Given the description of an element on the screen output the (x, y) to click on. 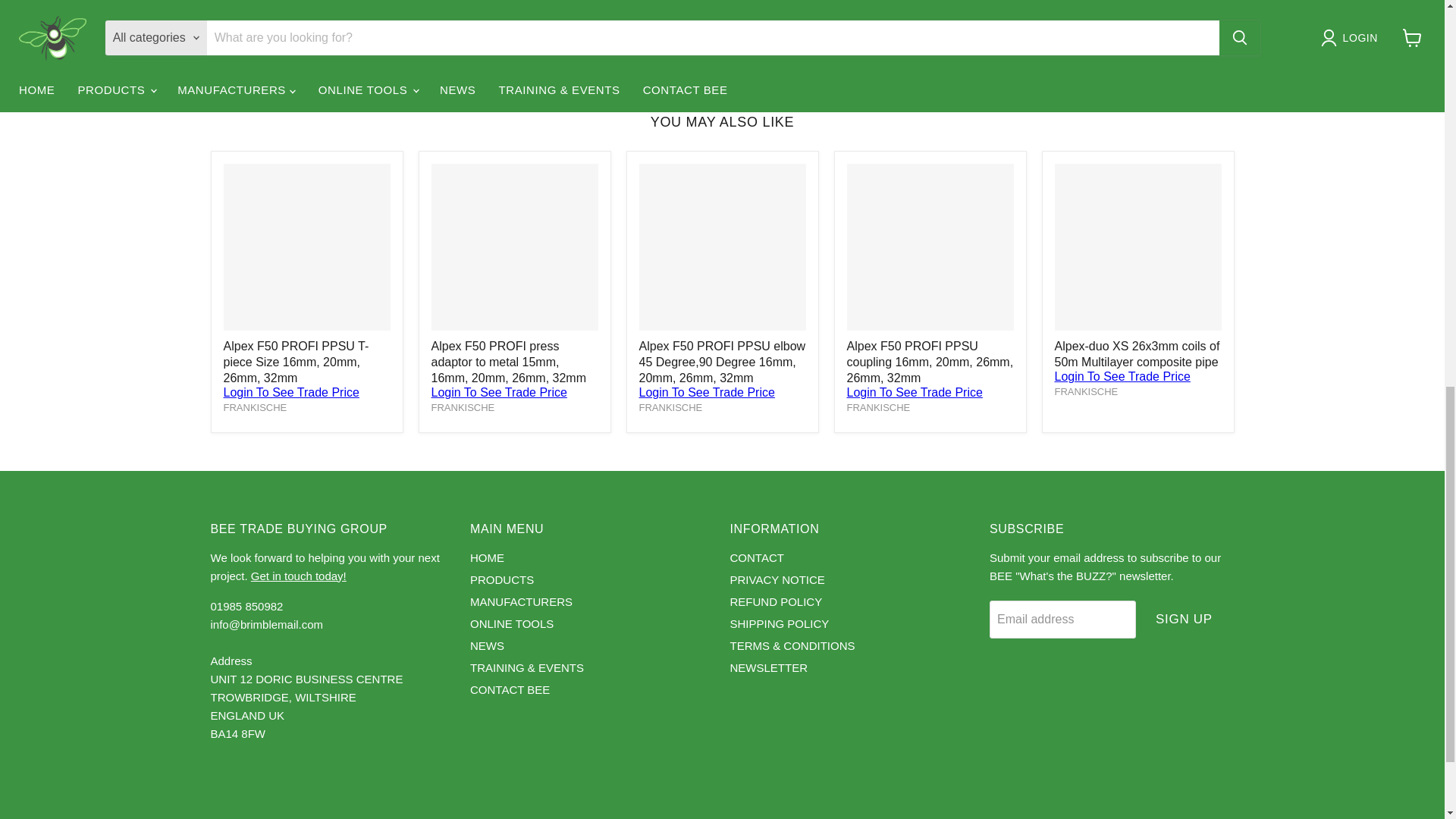
FRANKISCHE (877, 407)
FRANKISCHE (1086, 391)
FRANKISCHE (462, 407)
Contact Us (298, 575)
FRANKISCHE (254, 407)
FRANKISCHE (670, 407)
